Given the description of an element on the screen output the (x, y) to click on. 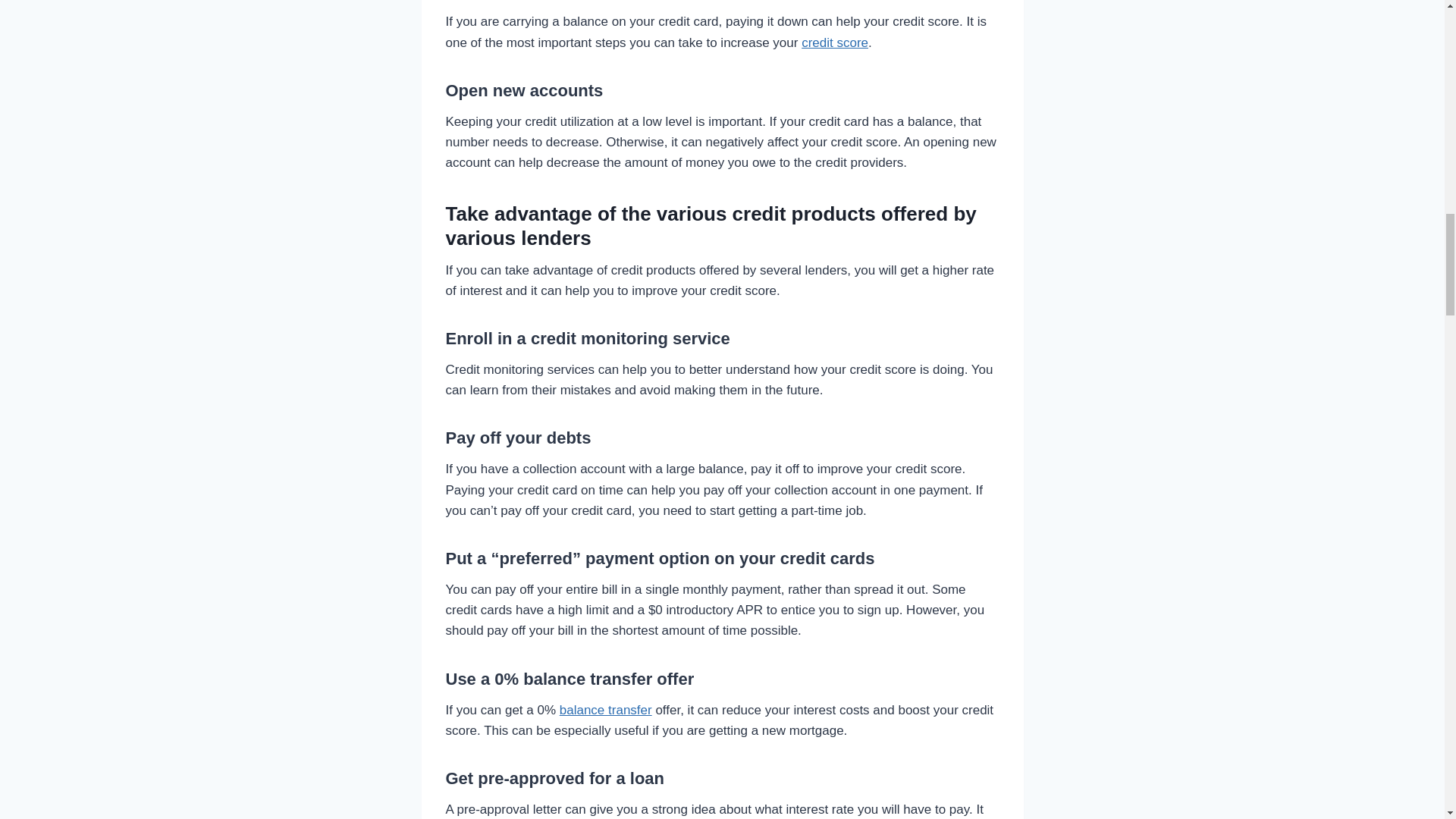
balance transfer (605, 709)
credit score (834, 42)
balance transfer (605, 709)
